Given the description of an element on the screen output the (x, y) to click on. 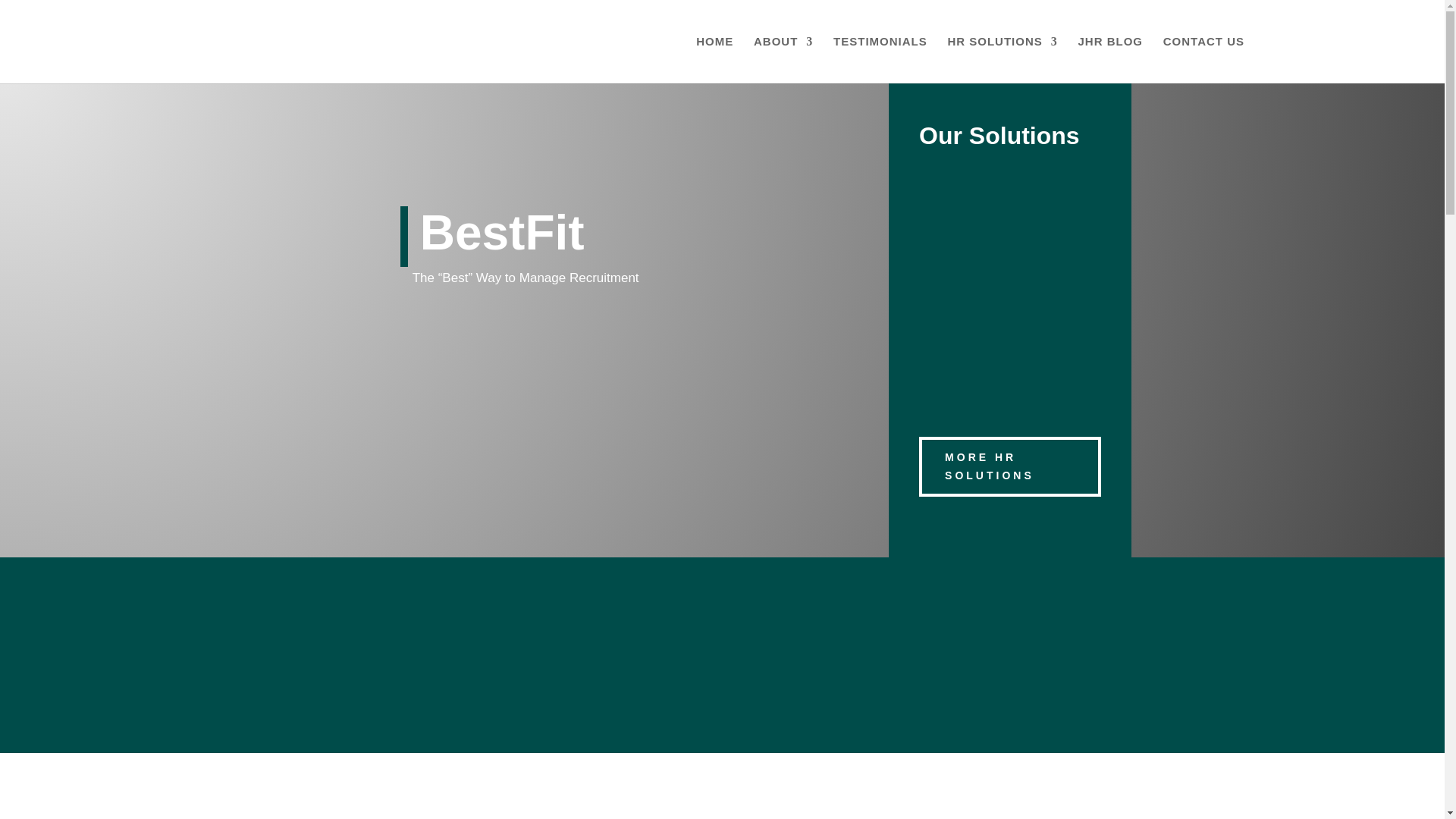
JHR BLOG (1110, 59)
CONTACT US (1203, 59)
HR SOLUTIONS (1002, 59)
ABOUT (783, 59)
MORE HR SOLUTIONS (1009, 466)
TESTIMONIALS (879, 59)
